Given the description of an element on the screen output the (x, y) to click on. 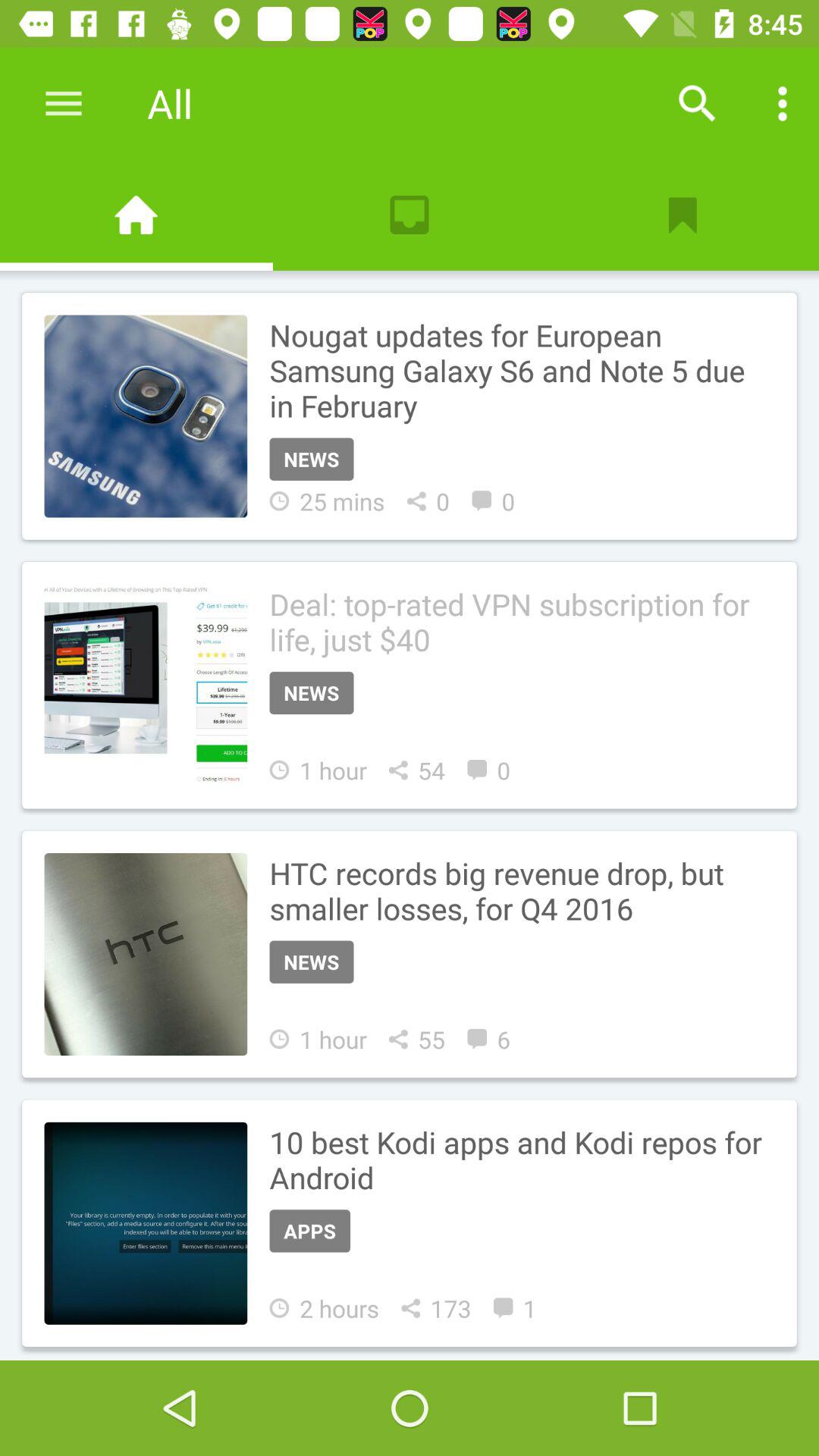
go to favorites (682, 214)
